Given the description of an element on the screen output the (x, y) to click on. 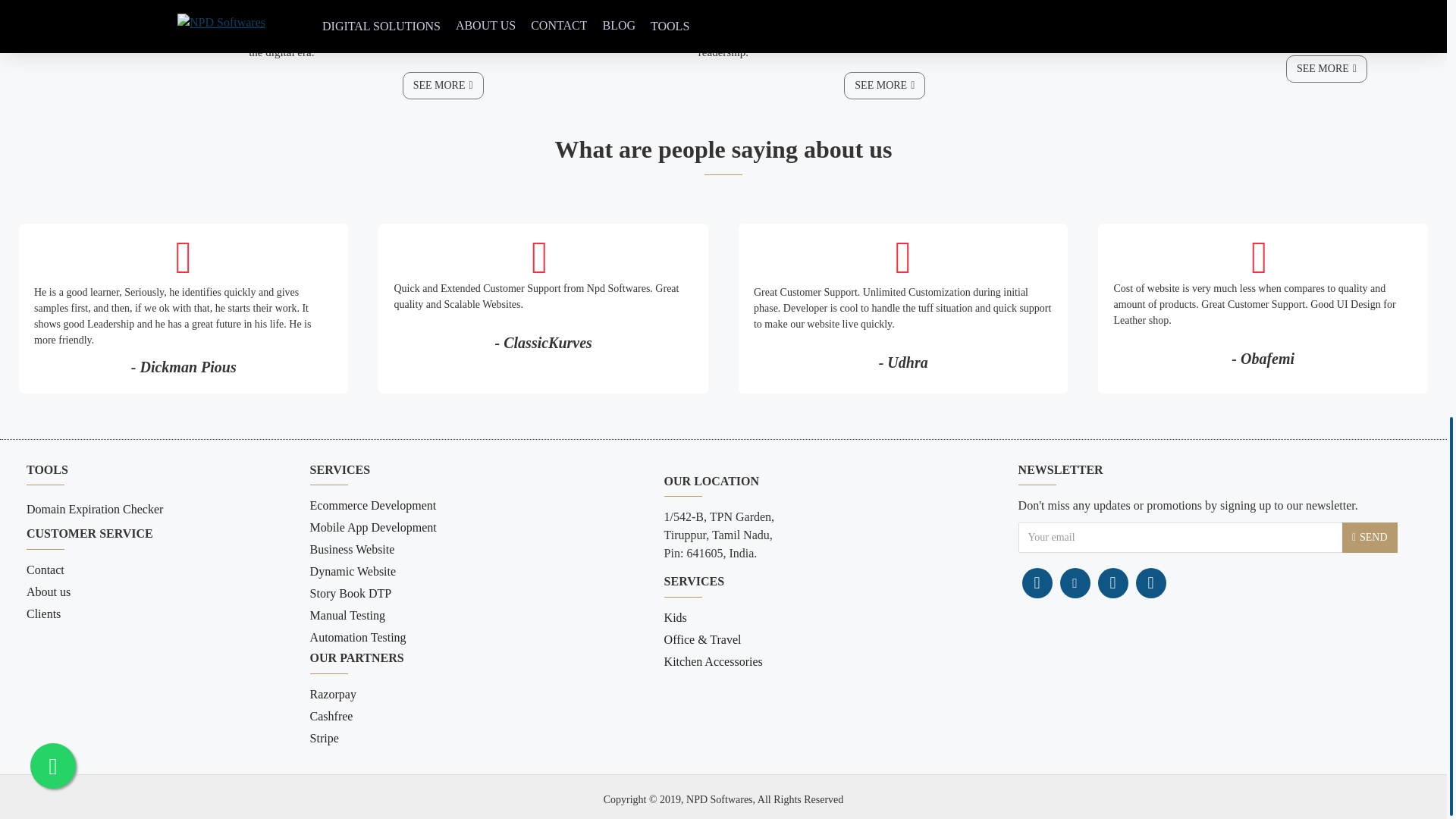
Whatsapp (1112, 583)
Instagram (1074, 583)
Google (1150, 583)
Domain Expiration Checker (94, 511)
SEE MORE (884, 85)
Facebook (1037, 583)
SEE MORE (1326, 68)
SEE MORE (443, 85)
